Given the description of an element on the screen output the (x, y) to click on. 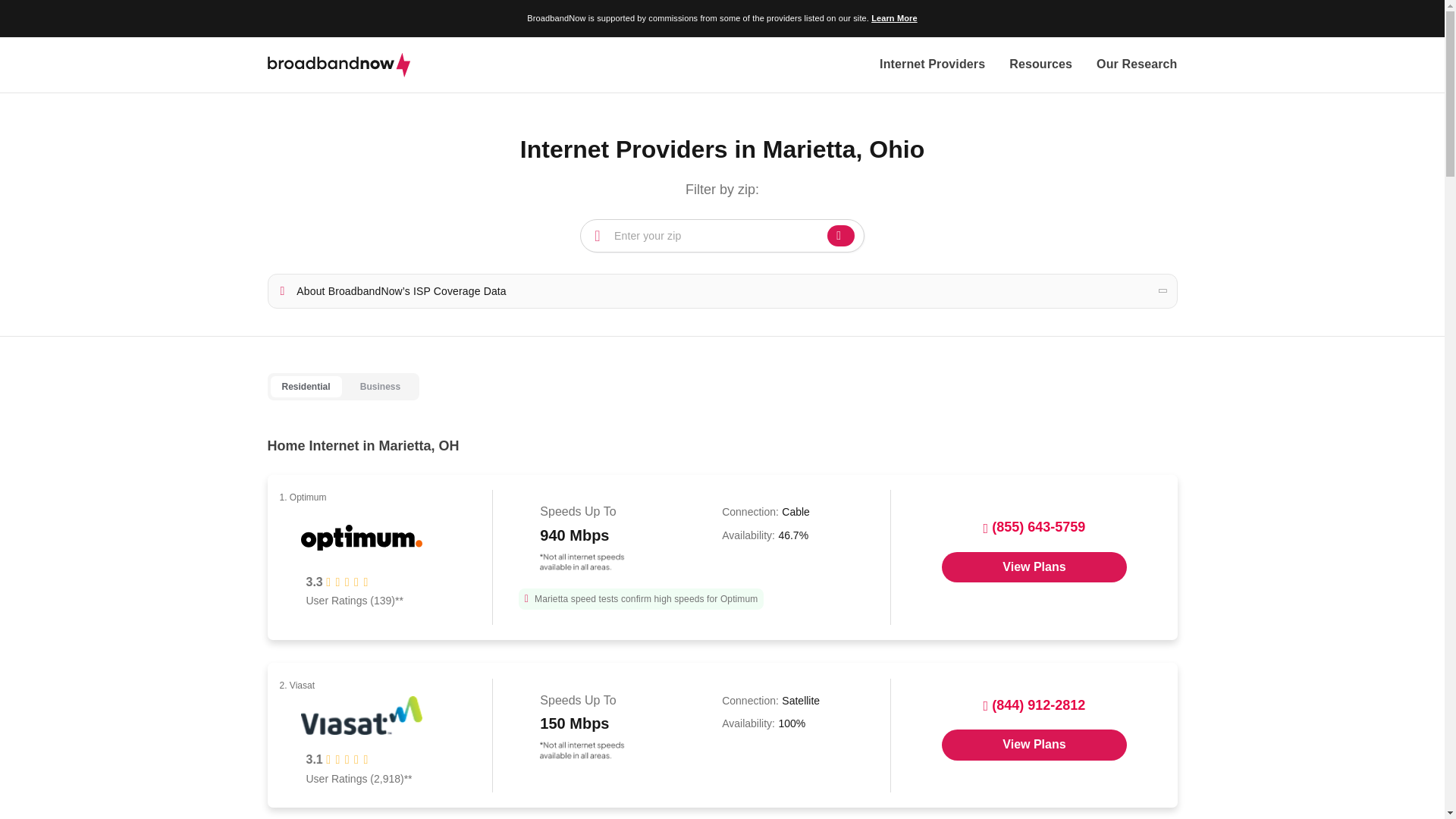
Opens in a new window (1034, 744)
Our Research (1136, 64)
Residential (305, 386)
Resources (1040, 64)
Learn More (893, 17)
Internet Providers (932, 64)
